Given the description of an element on the screen output the (x, y) to click on. 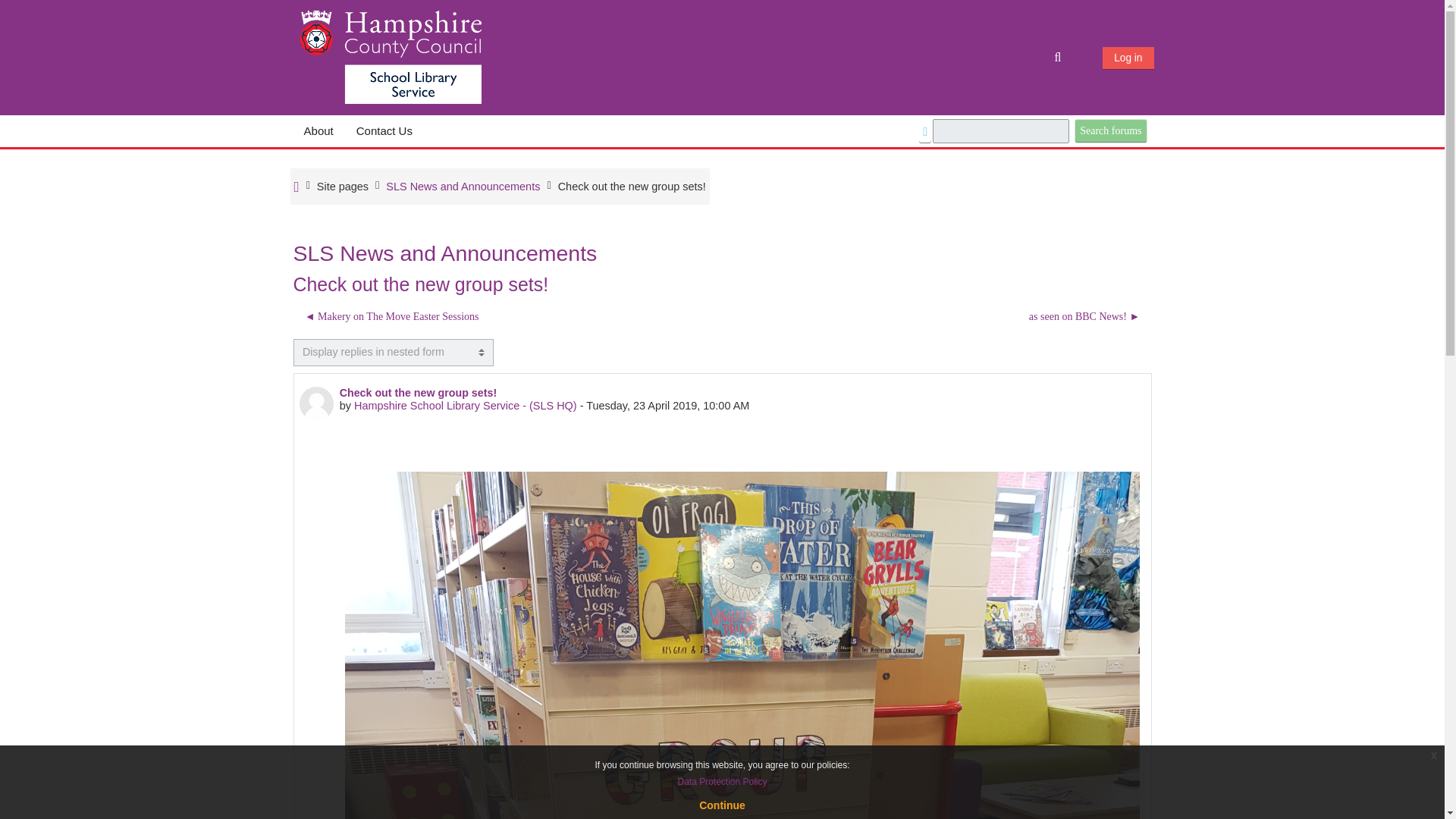
Home (296, 186)
 Contact Us (384, 131)
Forum (462, 186)
Data Protection Policy (722, 781)
Search forums (1110, 130)
SLS News and Announcements (462, 186)
Hampshire School Library Service (389, 56)
Toggle search input (1058, 57)
Hampshire School Library Service (342, 186)
Check out the new group sets! (631, 186)
About (318, 131)
About (318, 131)
Continue (721, 805)
Help with Search (924, 132)
Log in (1127, 57)
